Given the description of an element on the screen output the (x, y) to click on. 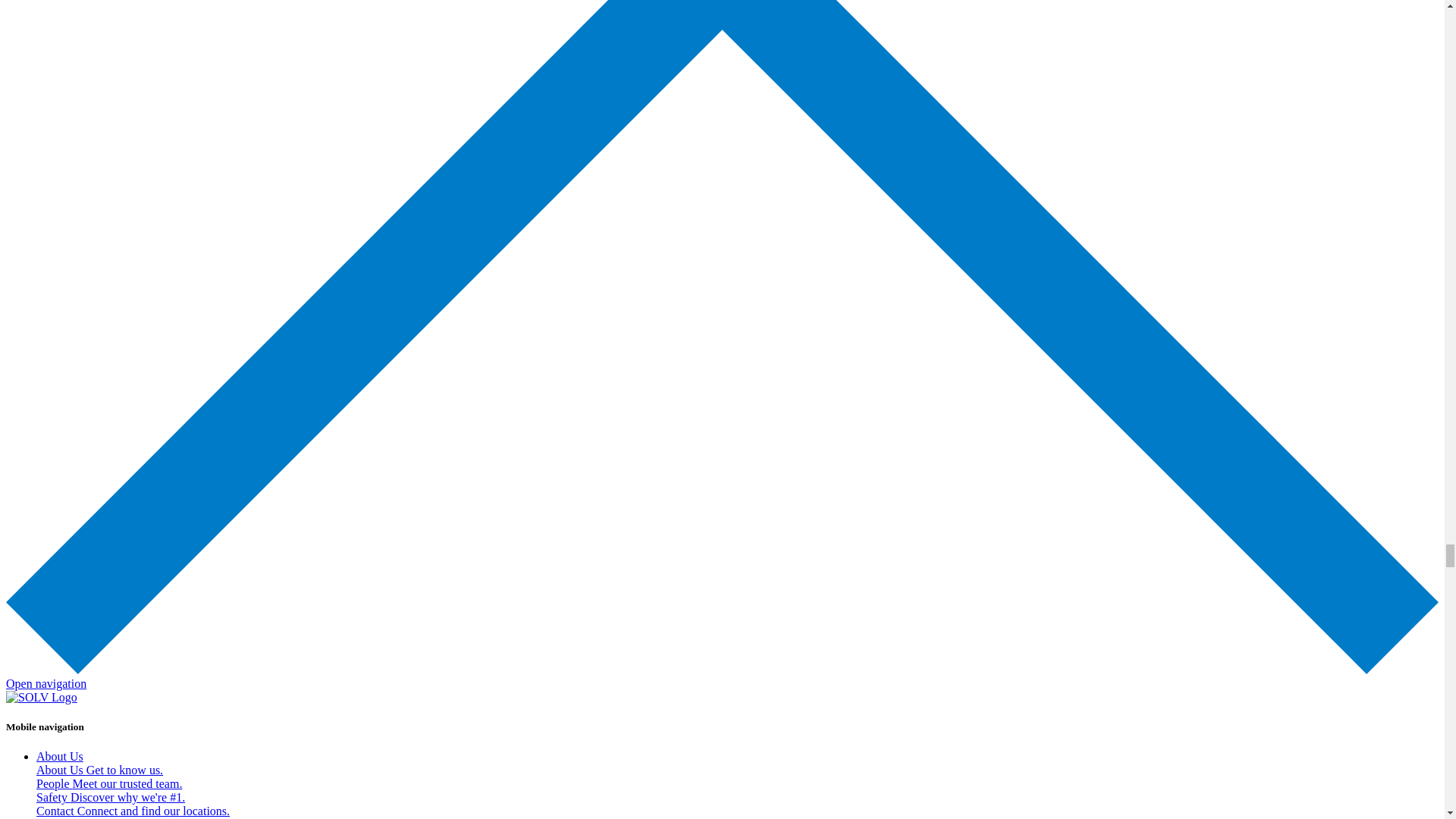
People Meet our trusted team. (109, 783)
Contact Connect and find our locations. (133, 810)
About Us Get to know us. (99, 769)
About Us (59, 756)
Expertise (58, 818)
